Given the description of an element on the screen output the (x, y) to click on. 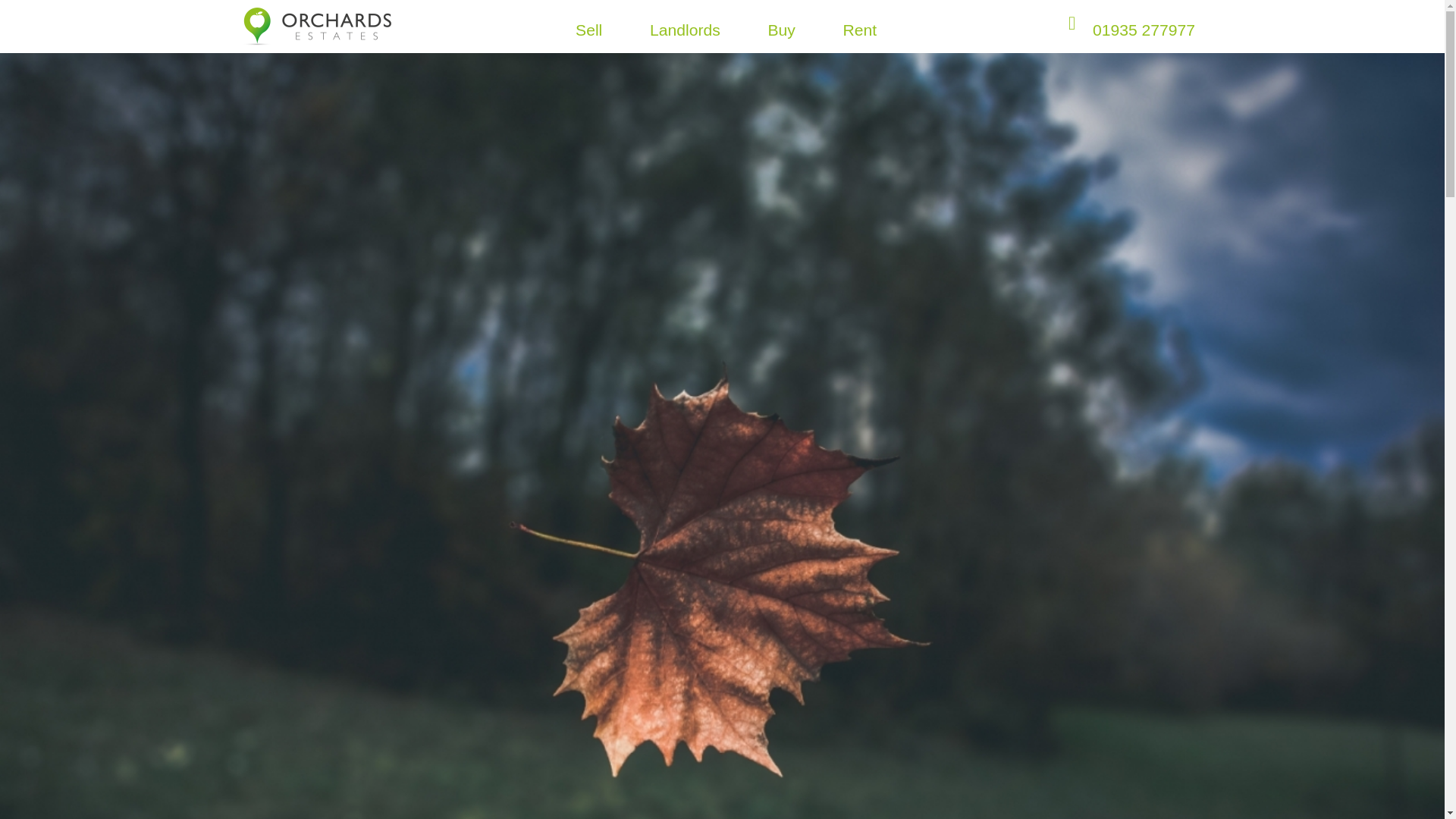
Rent (860, 30)
Sell (588, 30)
Landlords (684, 30)
Buy (780, 30)
01935 277977 (1144, 29)
